Given the description of an element on the screen output the (x, y) to click on. 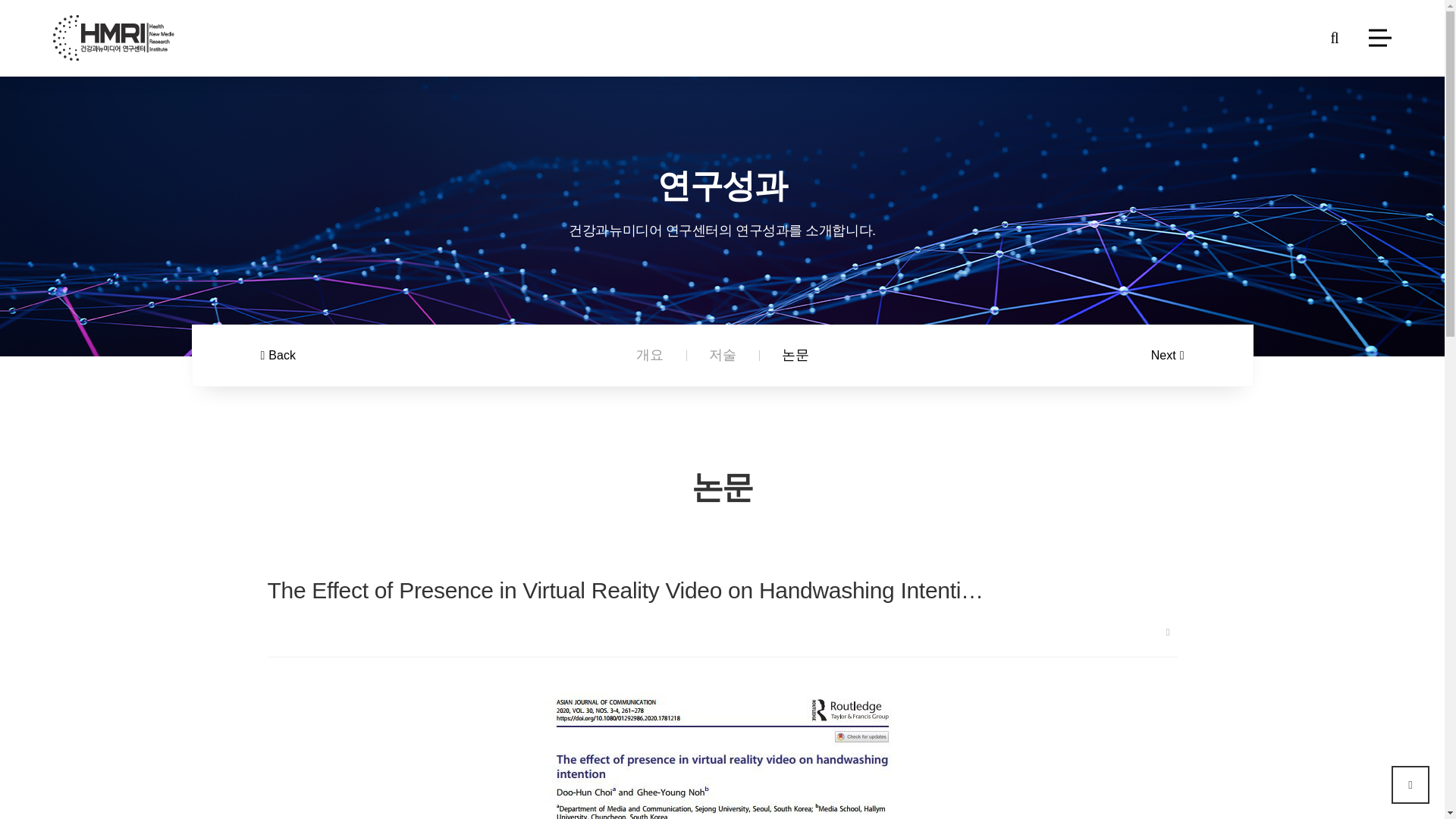
HMRI LOGO (113, 37)
menu (1379, 36)
Back (277, 355)
